Given the description of an element on the screen output the (x, y) to click on. 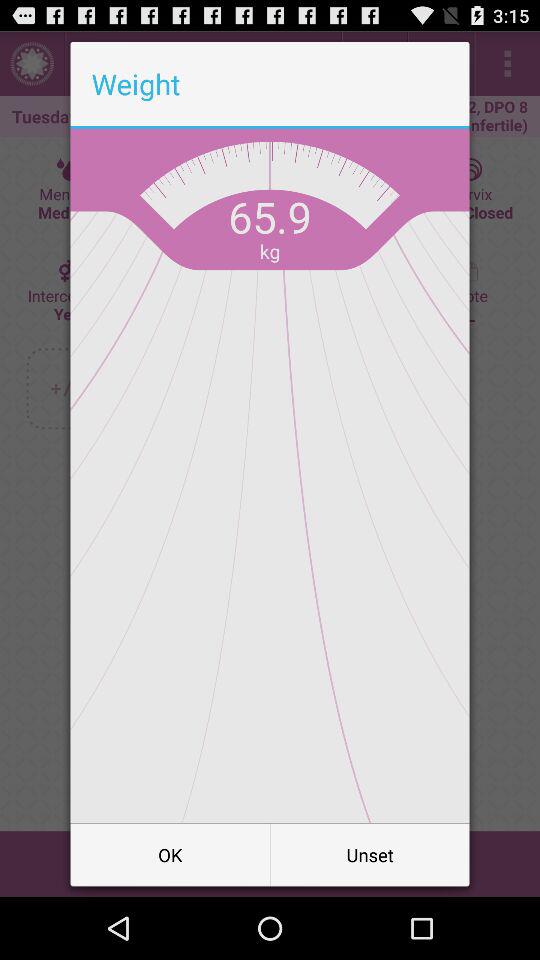
select the icon next to the ok icon (369, 854)
